Given the description of an element on the screen output the (x, y) to click on. 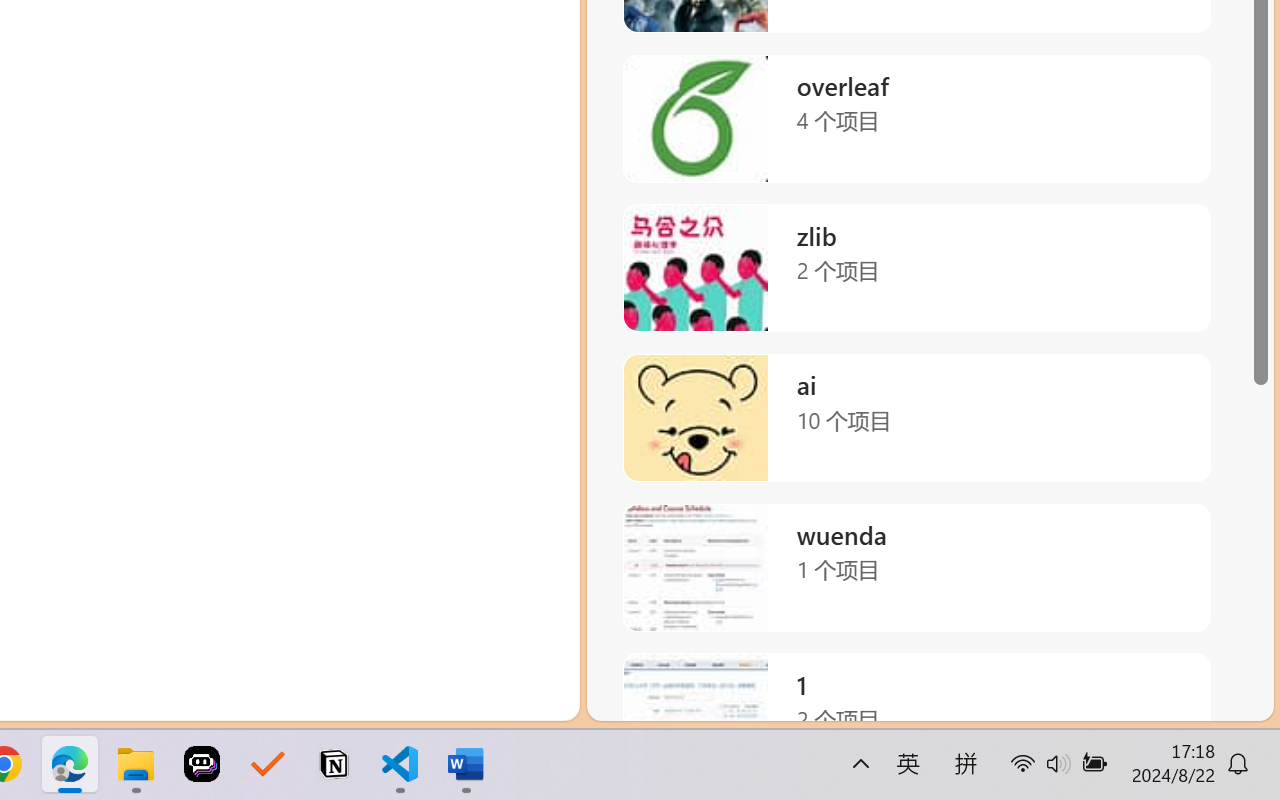
Views and More Actions... (1137, 243)
Maximize Panel Size (1183, 242)
copilot-notconnected, Copilot error (click for details) (1175, 698)
Class: actions-container (1211, 242)
Close Panel (1230, 242)
